Given the description of an element on the screen output the (x, y) to click on. 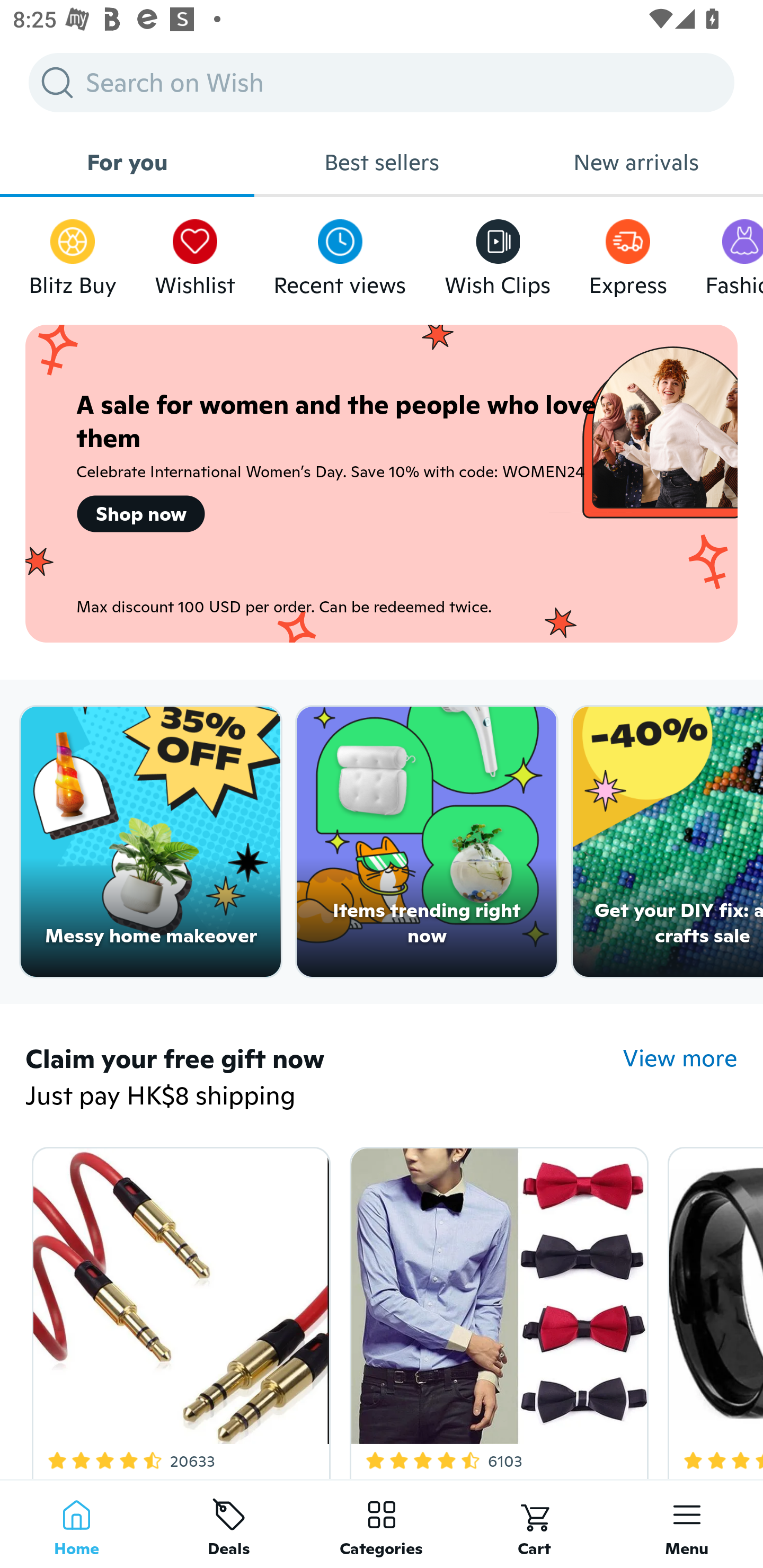
Search on Wish (381, 82)
For you (127, 161)
Best sellers (381, 161)
New arrivals (635, 161)
Blitz Buy (72, 252)
Wishlist (194, 252)
Recent views (339, 252)
Wish Clips (497, 252)
Express (627, 252)
Fashion (734, 252)
Messy home makeover (150, 841)
Items trending right now (426, 841)
Get your DIY fix: arts & crafts sale (668, 841)
Claim your free gift now
Just pay HK$8 shipping (323, 1078)
View more (679, 1058)
4.3 Star Rating 20633 Free (177, 1308)
4.4 Star Rating 6103 Free (495, 1308)
Home (76, 1523)
Deals (228, 1523)
Categories (381, 1523)
Cart (533, 1523)
Menu (686, 1523)
